Given the description of an element on the screen output the (x, y) to click on. 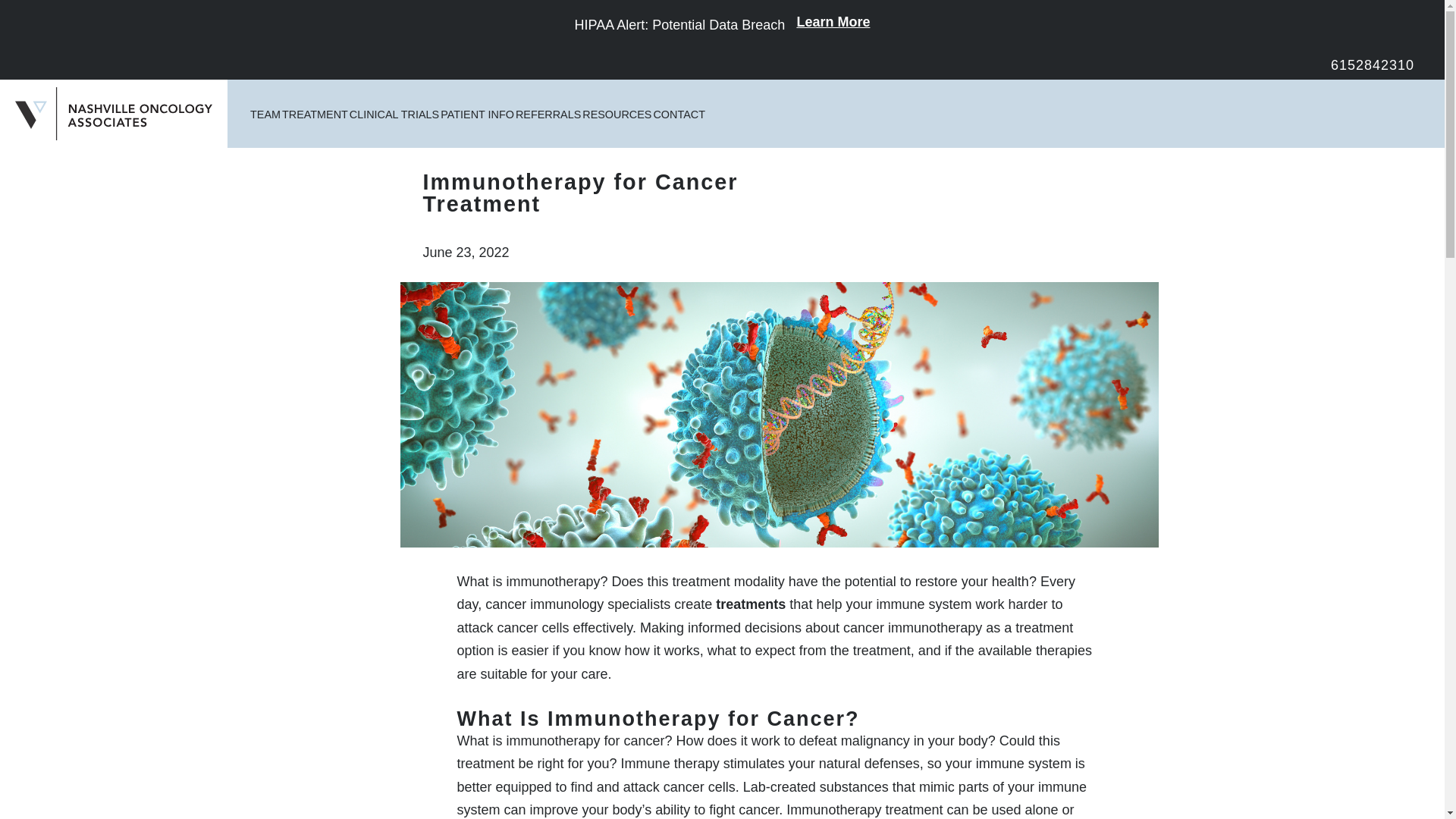
CONTACT (678, 114)
CLINICAL TRIALS (394, 114)
treatments (751, 604)
RESOURCES (616, 114)
REFERRALS (547, 114)
BACK TO RESOURCES (512, 128)
Learn More (832, 25)
PATIENT INFO (477, 114)
TREATMENT (314, 114)
6152842310 (1371, 65)
TEAM (265, 114)
